Given the description of an element on the screen output the (x, y) to click on. 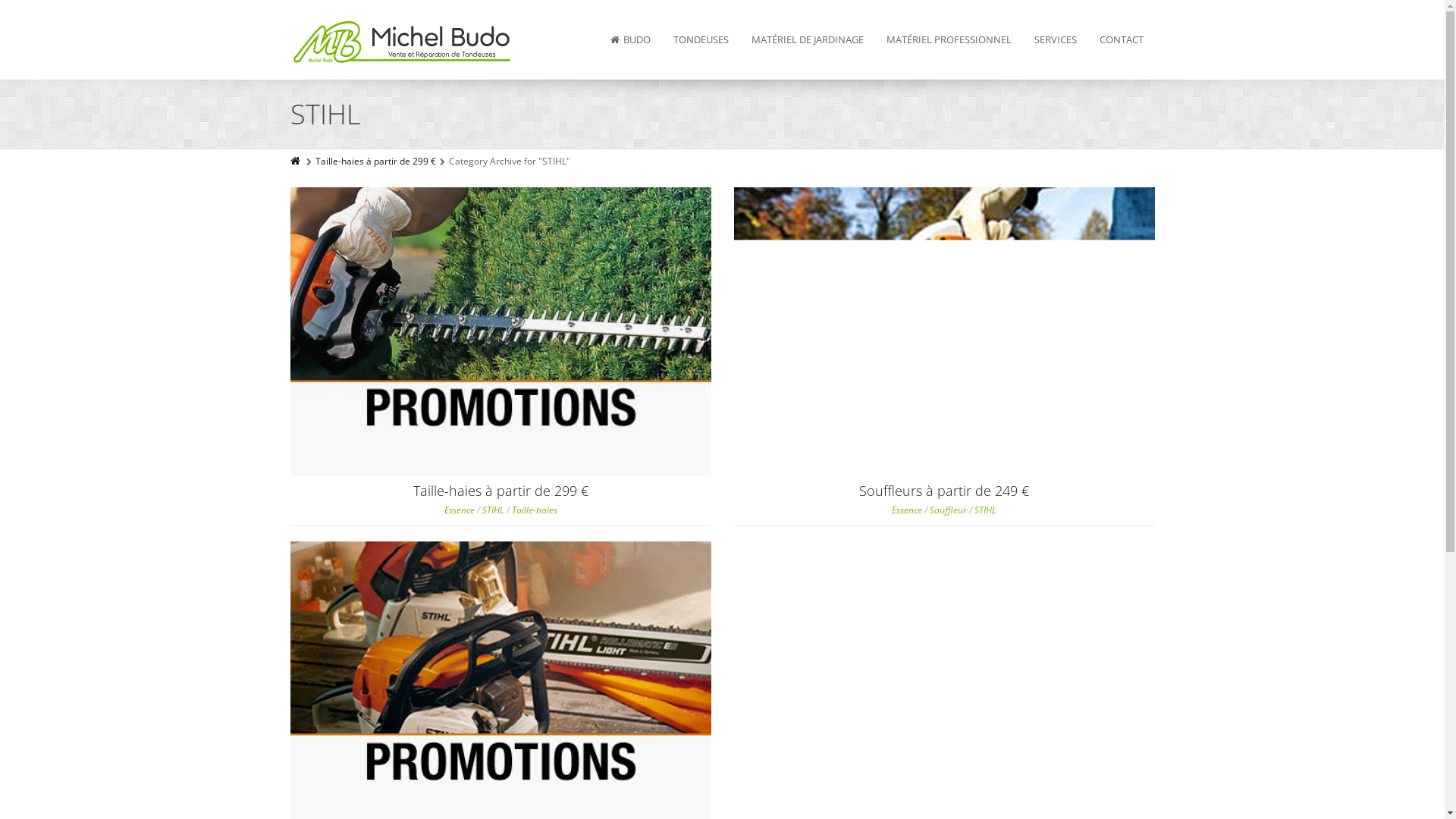
STIHL Element type: text (985, 509)
Home Element type: hover (295, 160)
Essence Element type: text (459, 509)
Essence Element type: text (906, 509)
Taille-haies Element type: text (533, 509)
SERVICES Element type: text (1054, 39)
Budo SCRL Element type: hover (403, 44)
TONDEUSES Element type: text (700, 39)
Souffleur Element type: text (947, 509)
CONTACT Element type: text (1120, 39)
BUDO Element type: text (630, 39)
STIHL Element type: text (493, 509)
